Given the description of an element on the screen output the (x, y) to click on. 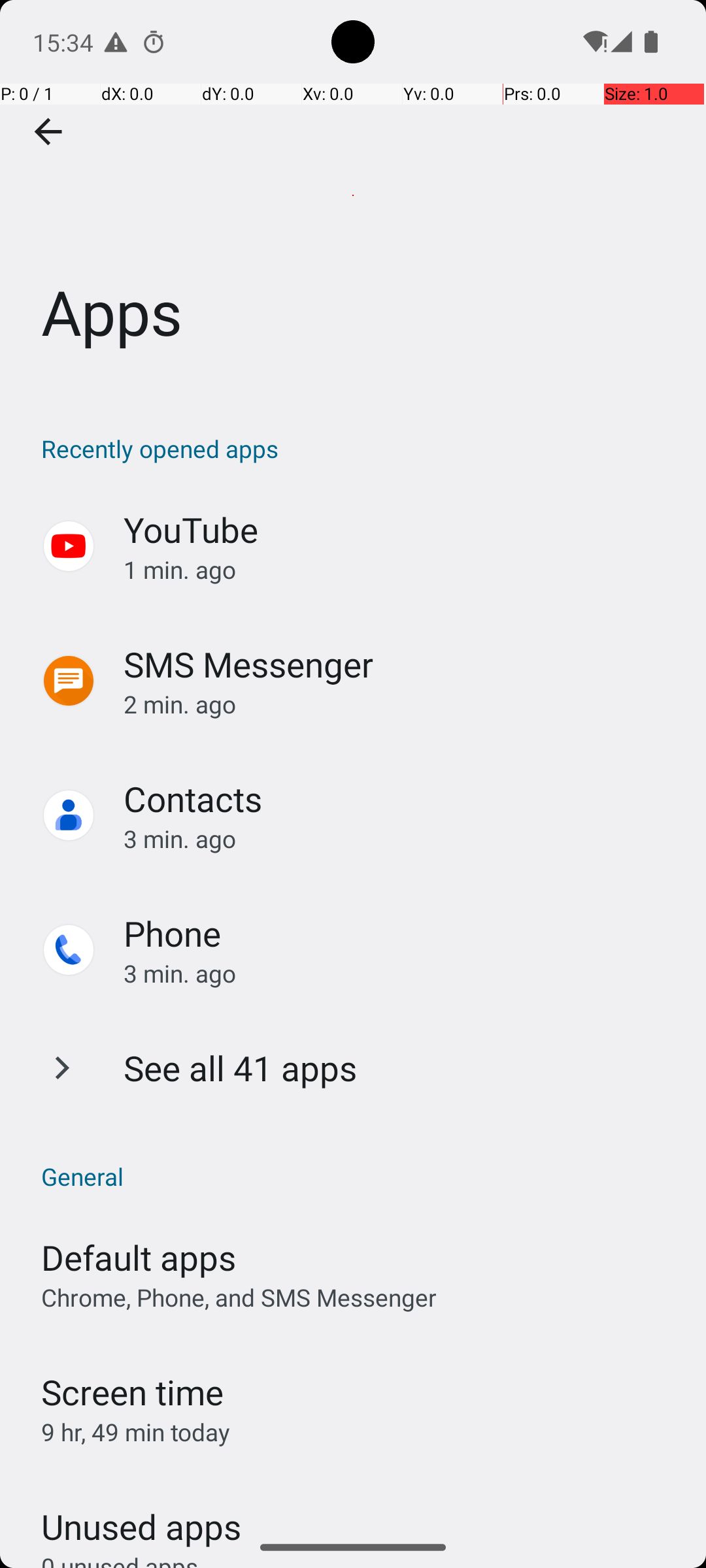
Apps Element type: android.widget.FrameLayout (353, 195)
Recently opened apps Element type: android.widget.TextView (359, 448)
1 min. ago Element type: android.widget.TextView (400, 569)
2 min. ago Element type: android.widget.TextView (400, 703)
3 min. ago Element type: android.widget.TextView (400, 838)
See all 41 apps Element type: android.widget.TextView (239, 1067)
General Element type: android.widget.TextView (359, 1175)
Default apps Element type: android.widget.TextView (138, 1257)
Chrome, Phone, and SMS Messenger Element type: android.widget.TextView (238, 1296)
Screen time Element type: android.widget.TextView (132, 1391)
9 hr, 49 min today Element type: android.widget.TextView (135, 1431)
Unused apps Element type: android.widget.TextView (141, 1514)
Android System notification:  Element type: android.widget.ImageView (115, 41)
